Given the description of an element on the screen output the (x, y) to click on. 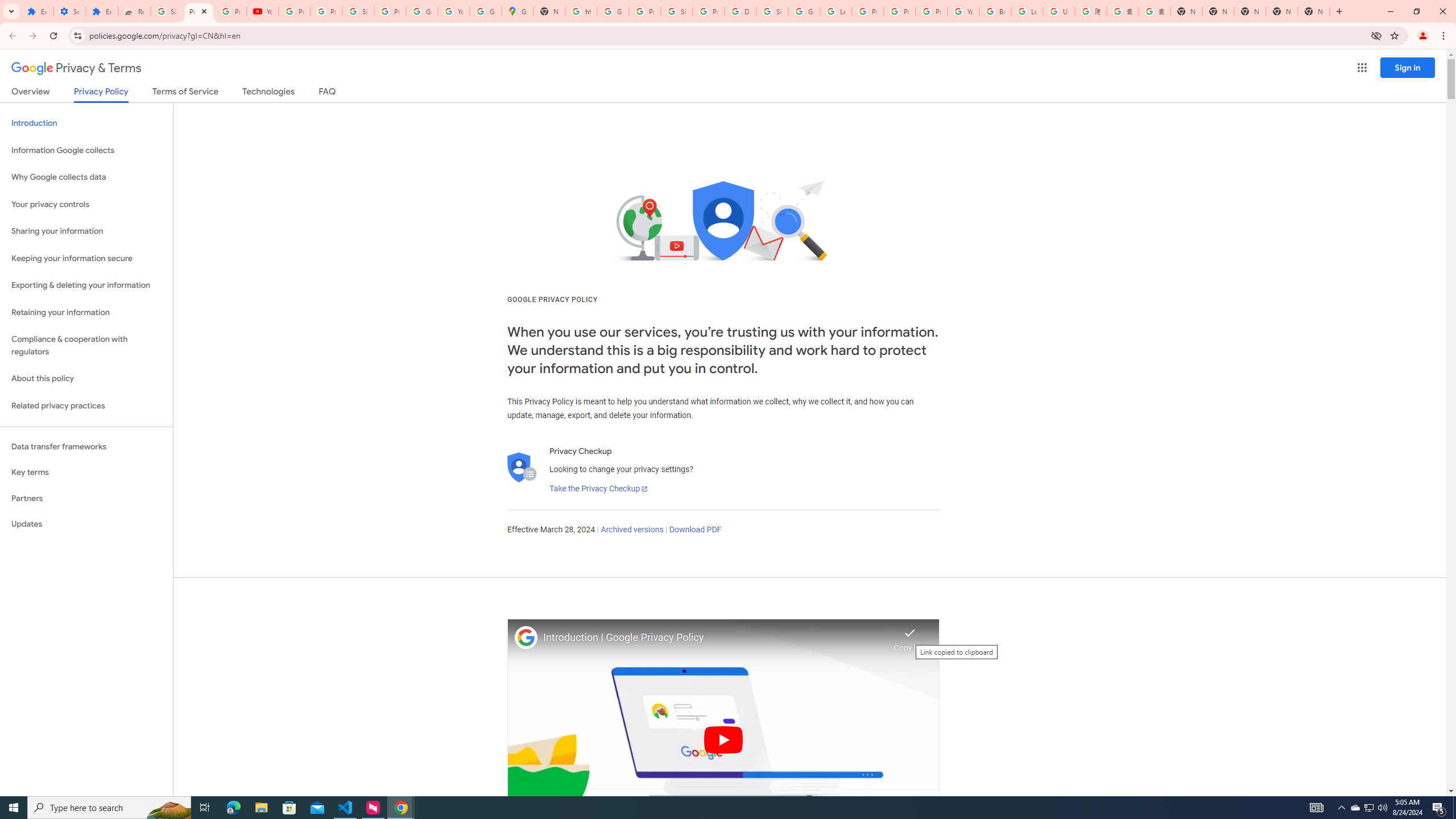
Sign in - Google Accounts (676, 11)
Privacy Help Center - Policies Help (868, 11)
YouTube (453, 11)
Key terms (86, 472)
Exporting & deleting your information (86, 284)
Data transfer frameworks (86, 446)
Retaining your information (86, 312)
Play (723, 739)
YouTube (963, 11)
Photo image of Google (526, 636)
